Given the description of an element on the screen output the (x, y) to click on. 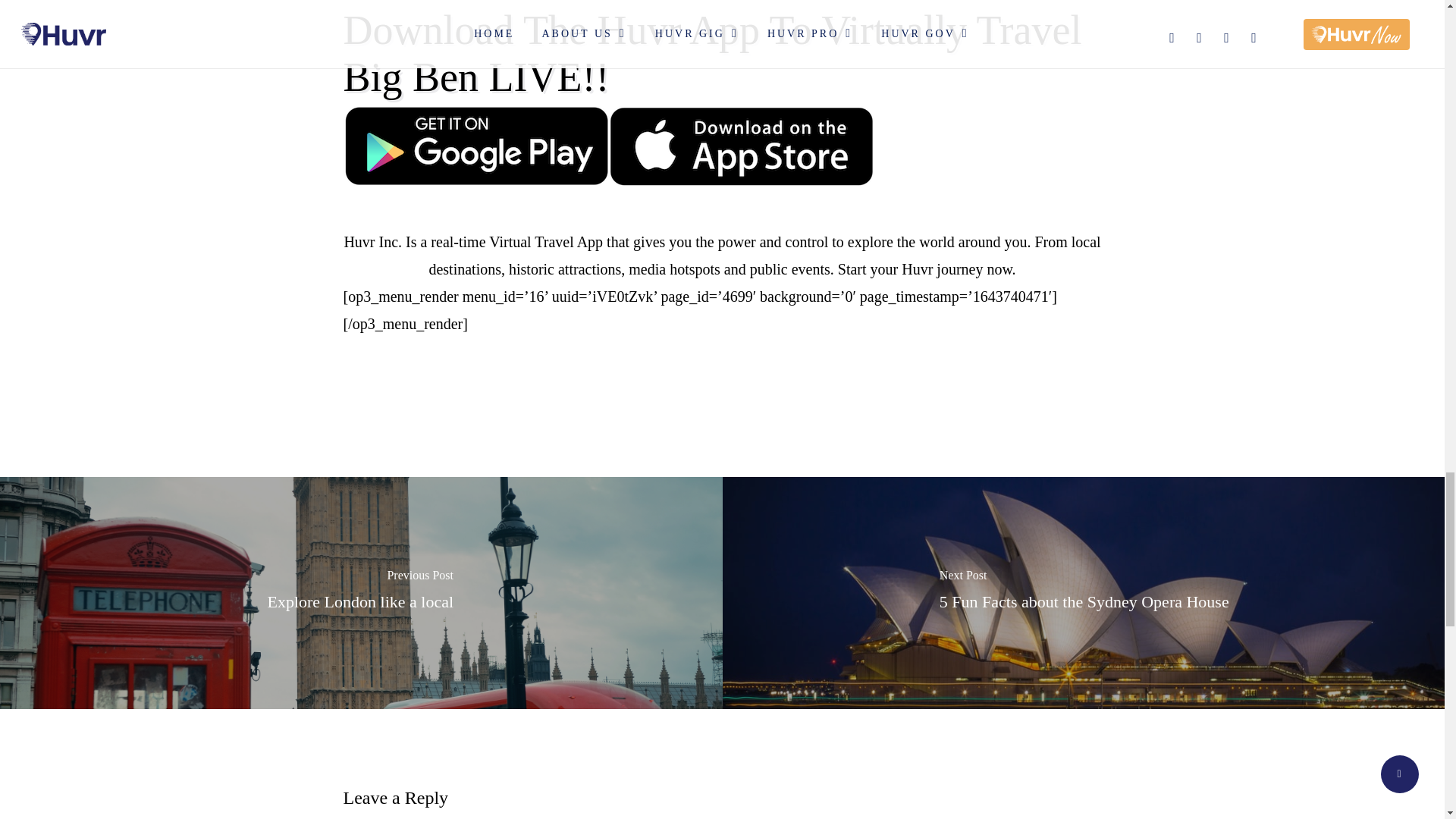
Apple Store (740, 145)
Google Store (475, 145)
